Given the description of an element on the screen output the (x, y) to click on. 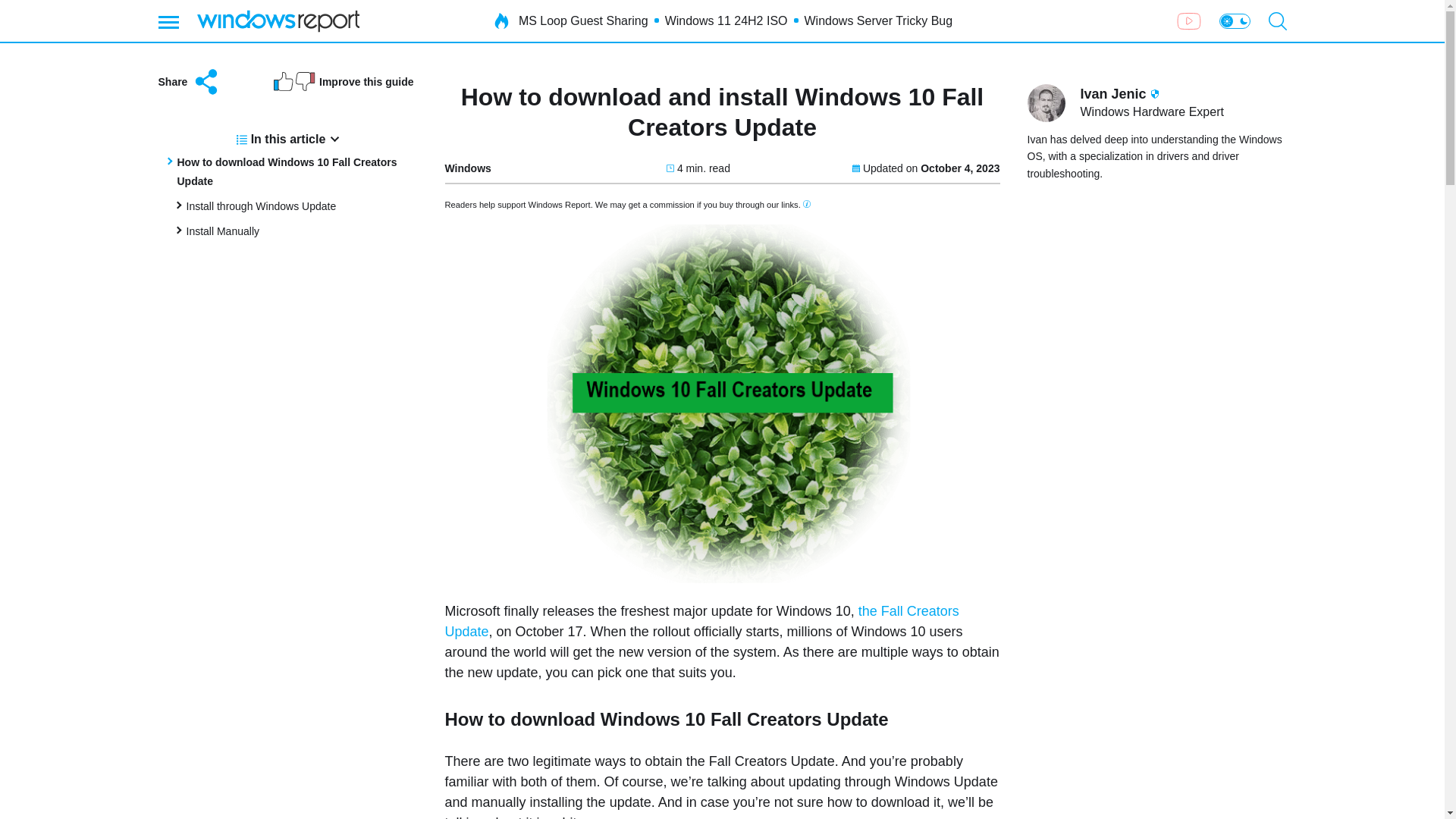
Install Manually (223, 231)
Windows (467, 168)
Windows Server Tricky Bug (877, 21)
Share this article (189, 81)
Windows 11 24H2 ISO (726, 21)
Share (189, 81)
How to download Windows 10 Fall Creators Update (287, 171)
MS Loop Guest Sharing (582, 21)
Open search bar (1276, 21)
Install through Windows Update (261, 205)
